Given the description of an element on the screen output the (x, y) to click on. 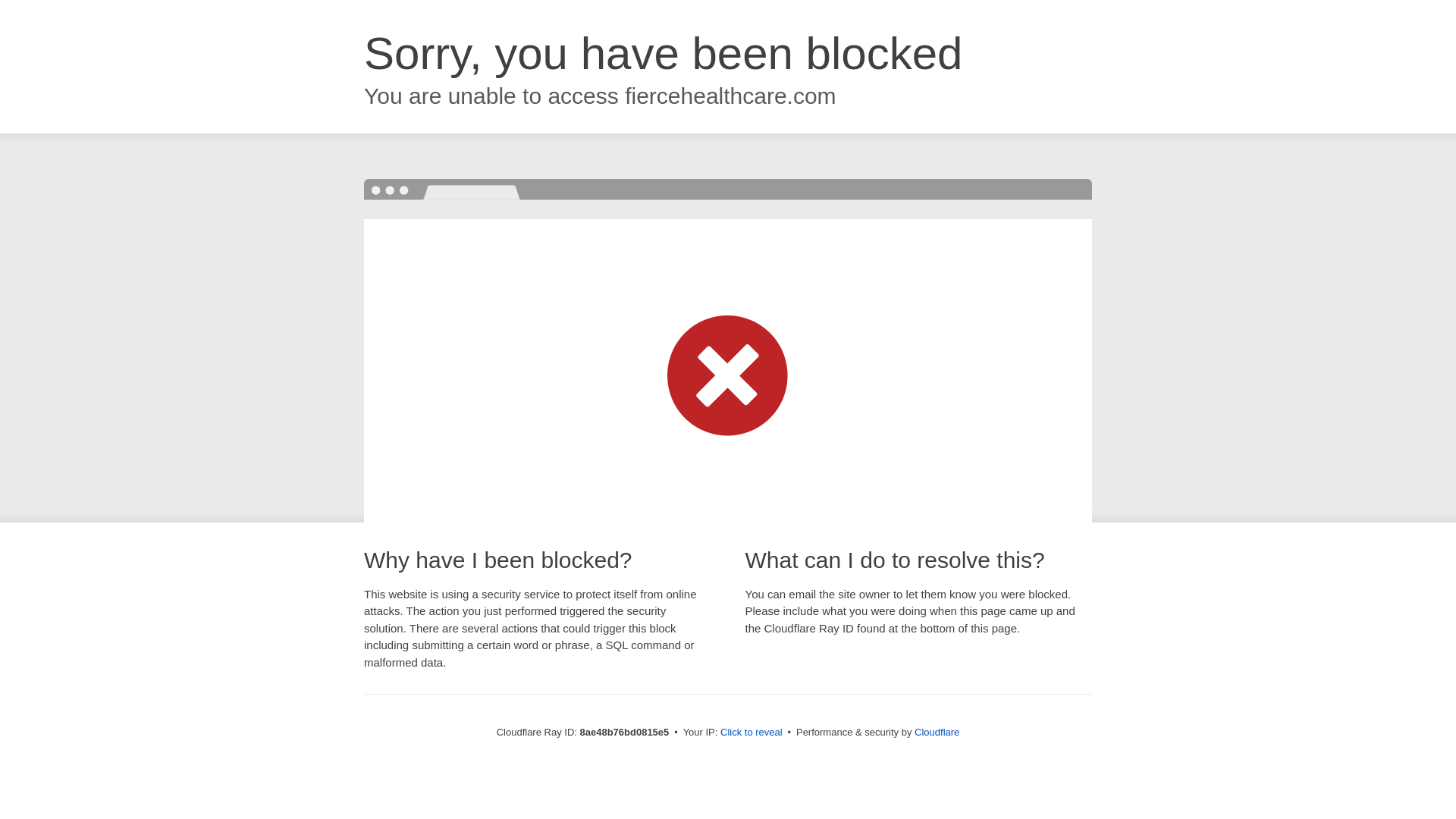
Cloudflare (936, 731)
Click to reveal (751, 732)
